Given the description of an element on the screen output the (x, y) to click on. 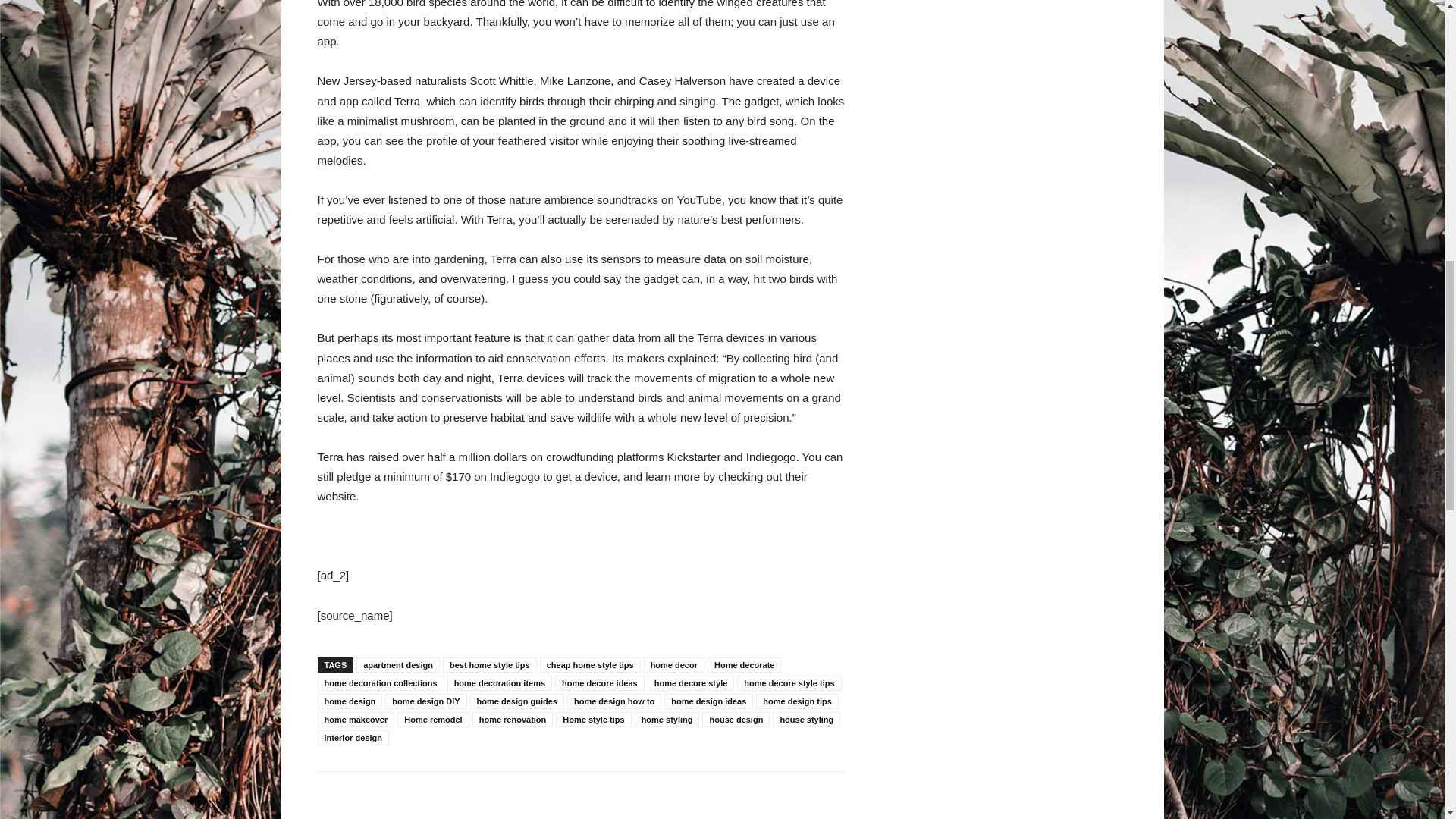
home decoration collections (380, 683)
home renovation (512, 719)
Home style tips (593, 719)
home design tips (796, 701)
best home style tips (489, 664)
home decore style (691, 683)
home design guides (517, 701)
home design DIY (425, 701)
home decore style tips (788, 683)
home design how to (614, 701)
